Given the description of an element on the screen output the (x, y) to click on. 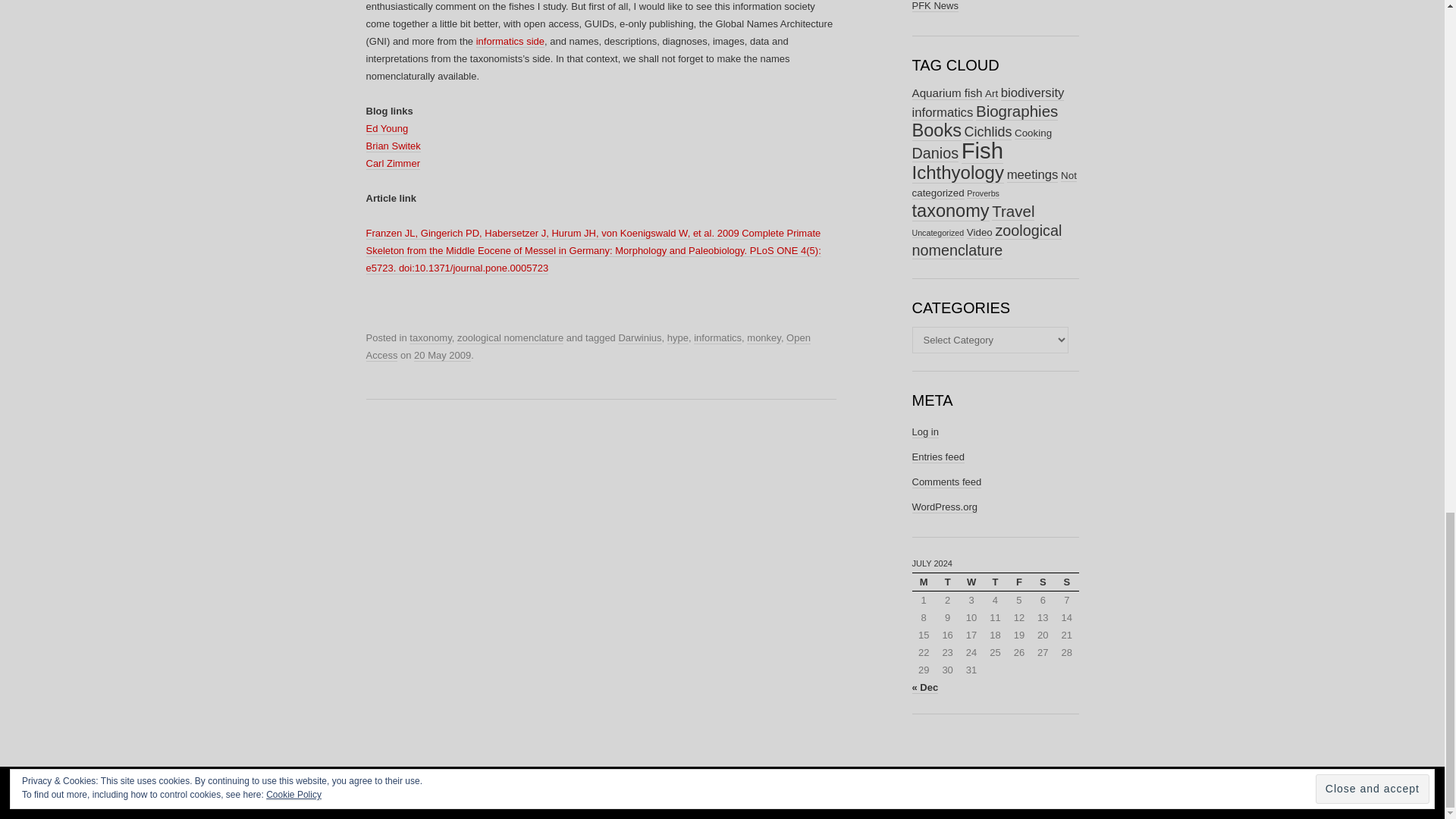
Saturday (1042, 581)
Semantic Personal Publishing Platform (684, 791)
Open Access (587, 346)
Ed Young (386, 128)
informatics side (510, 41)
23:22 (441, 355)
Darwinius (639, 337)
Theme Developer (879, 791)
informatics (717, 337)
monkey (763, 337)
Tuesday (947, 581)
Brian Switek (392, 146)
Friday (1018, 581)
Sunday (1066, 581)
Thursday (995, 581)
